Given the description of an element on the screen output the (x, y) to click on. 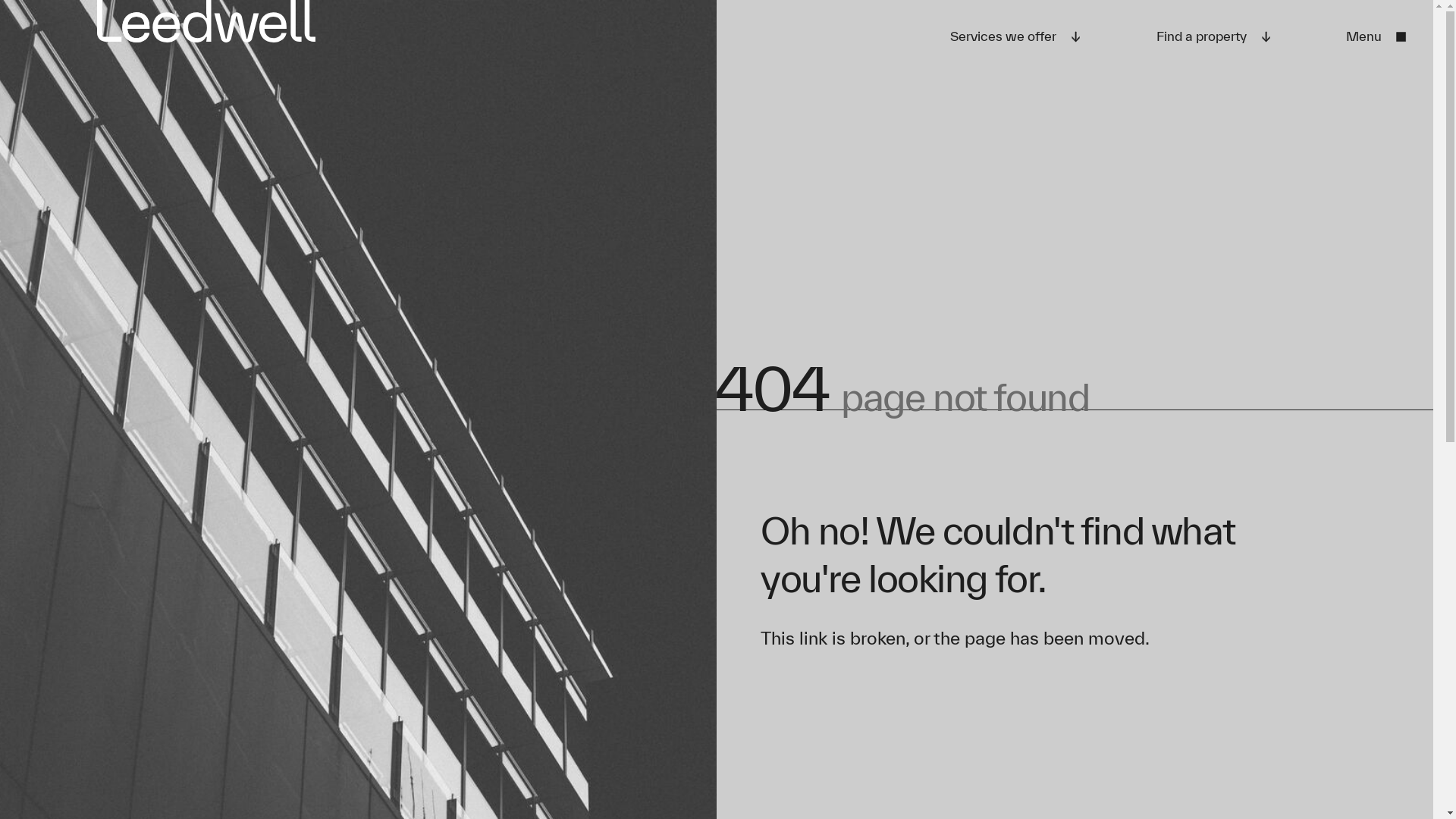
Services we offer Element type: text (1016, 37)
Menu Element type: text (1376, 37)
Find a property Element type: text (1214, 37)
Go to homepage Element type: hover (206, 21)
